Given the description of an element on the screen output the (x, y) to click on. 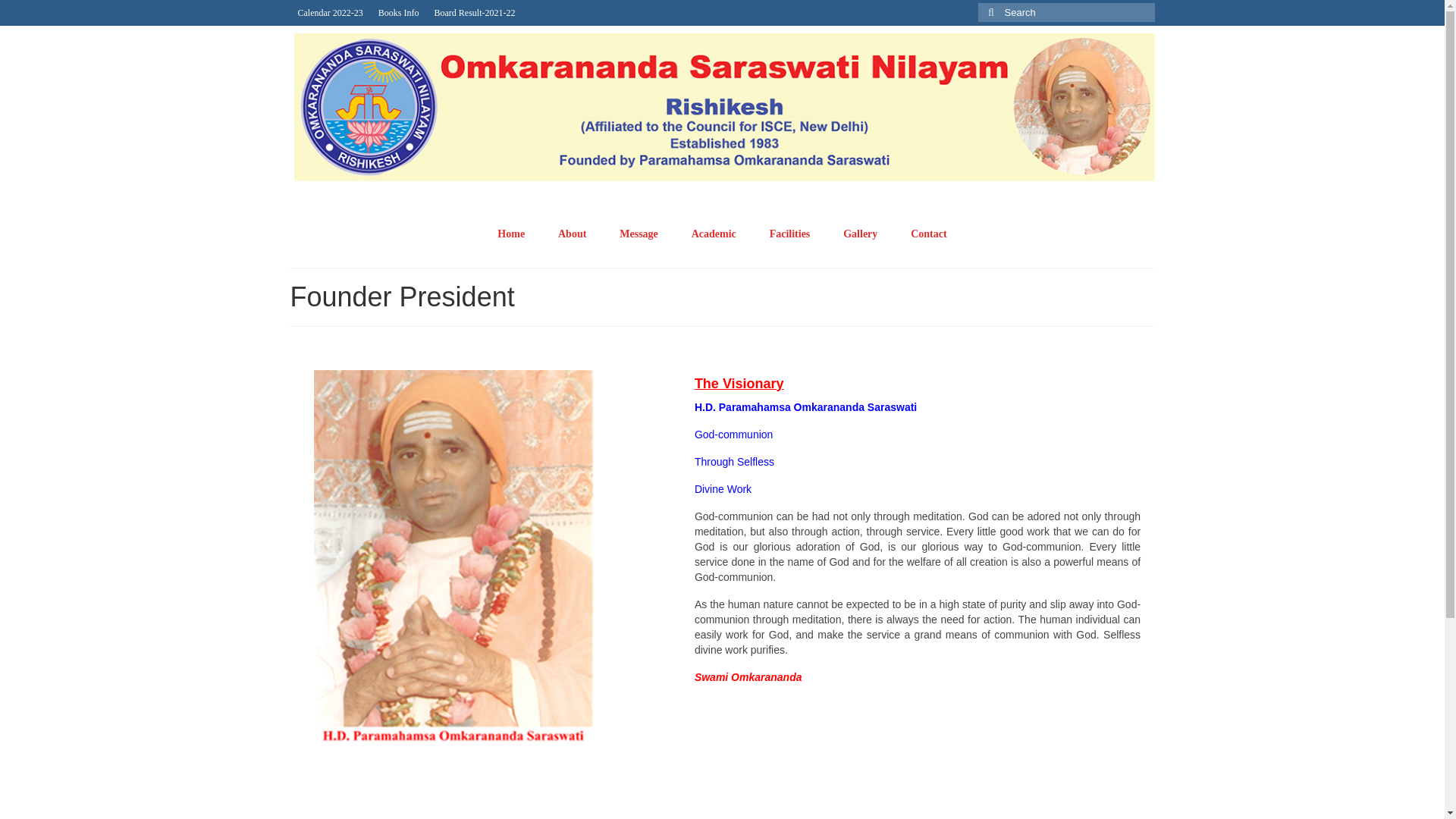
Facilities (789, 234)
Message (638, 234)
Gallery (860, 234)
Home (510, 234)
About (572, 234)
Academic (714, 234)
Calendar 2022-23 (329, 12)
Contact (927, 234)
Board Result-2021-22 (474, 12)
Books Info (398, 12)
